Given the description of an element on the screen output the (x, y) to click on. 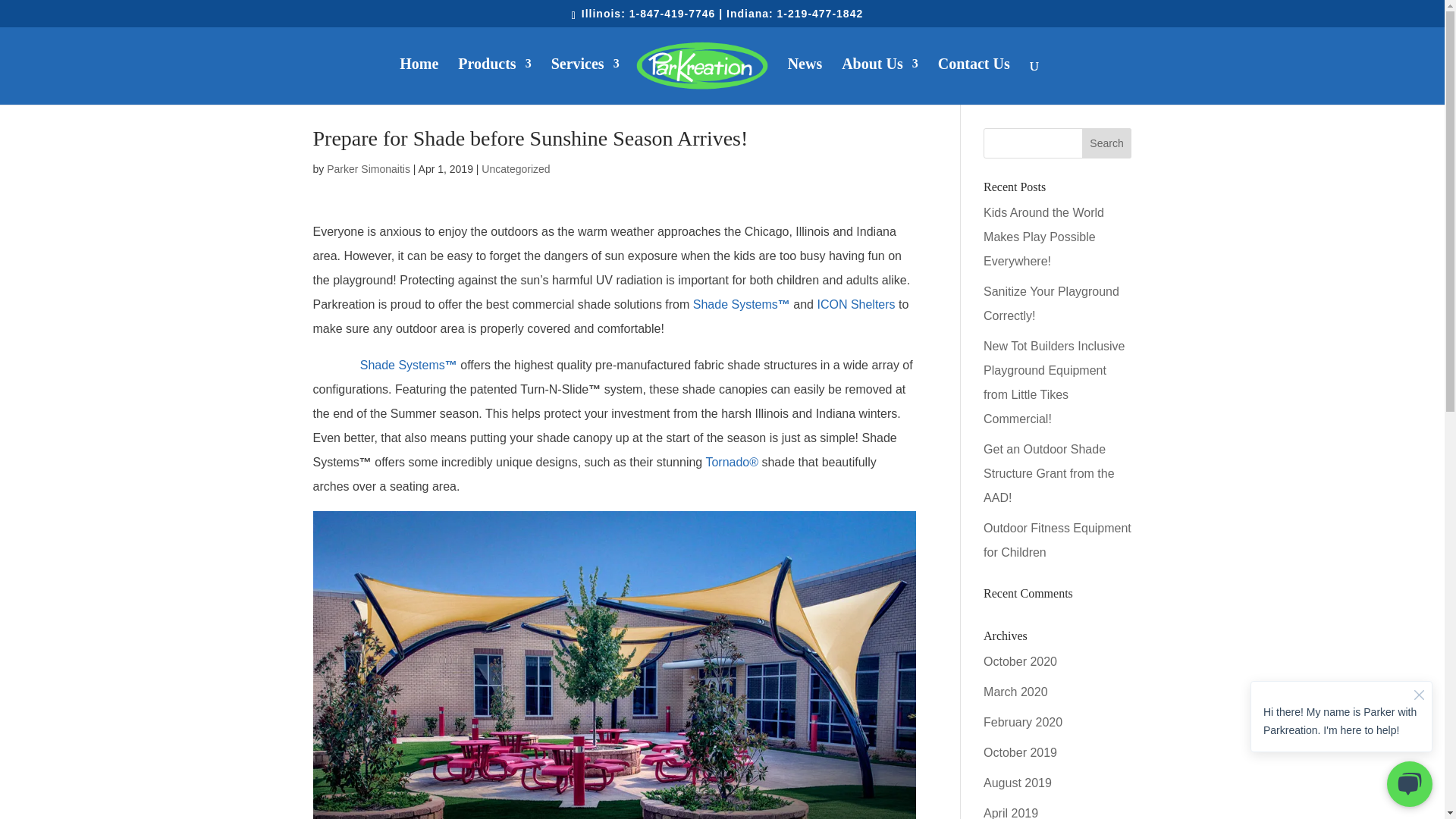
Products (494, 81)
Services (585, 81)
About Us (879, 81)
Search (1106, 142)
Posts by Parker Simonaitis (368, 168)
Contact Us (973, 81)
